Given the description of an element on the screen output the (x, y) to click on. 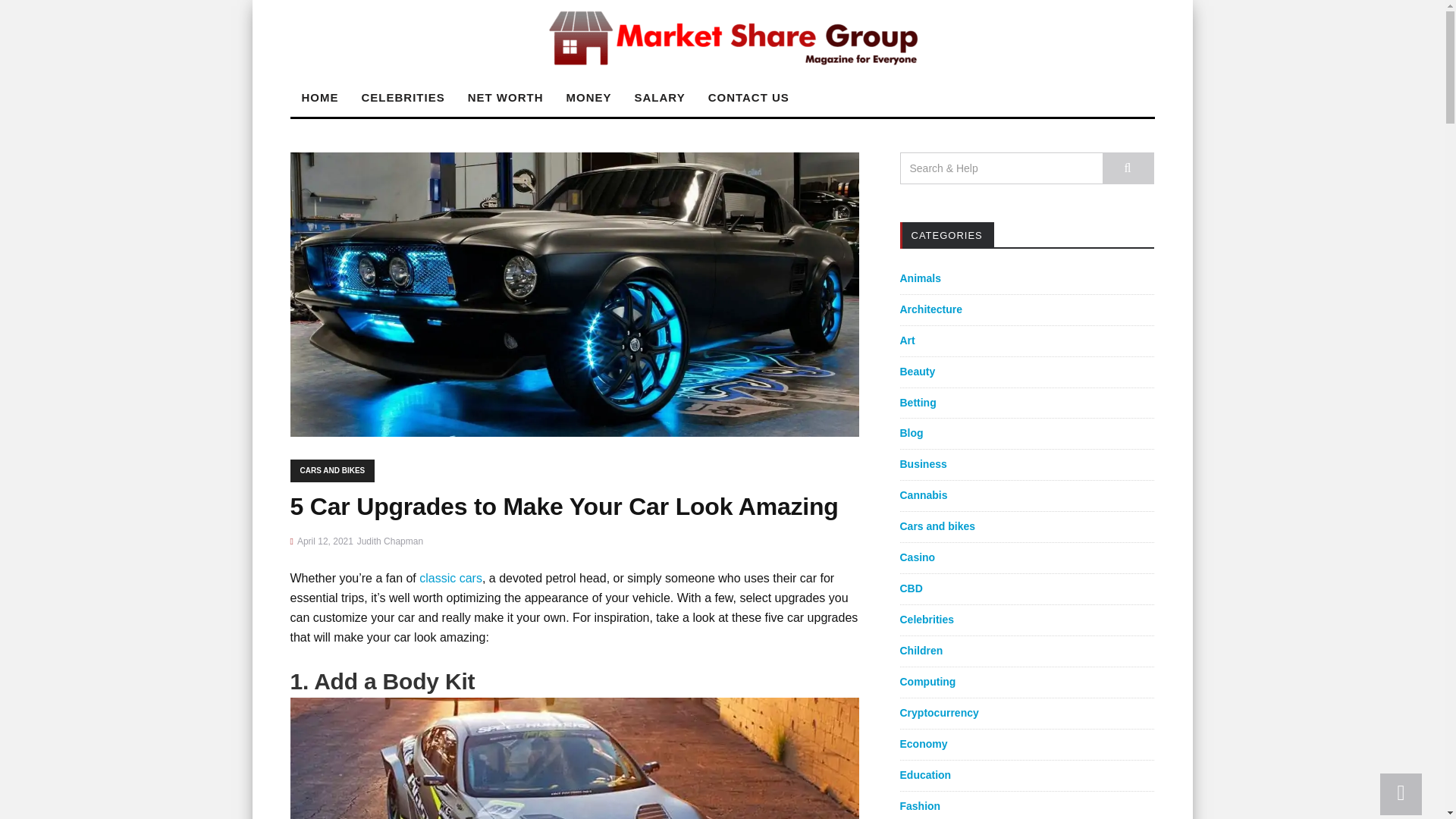
Blog (911, 432)
Contact Us (748, 97)
Posts by Judith Chapman (389, 541)
CELEBRITIES (403, 97)
Search (1128, 168)
CARS AND BIKES (331, 470)
Betting (917, 401)
Celebrities (926, 619)
Business (922, 463)
Casino (916, 557)
